Given the description of an element on the screen output the (x, y) to click on. 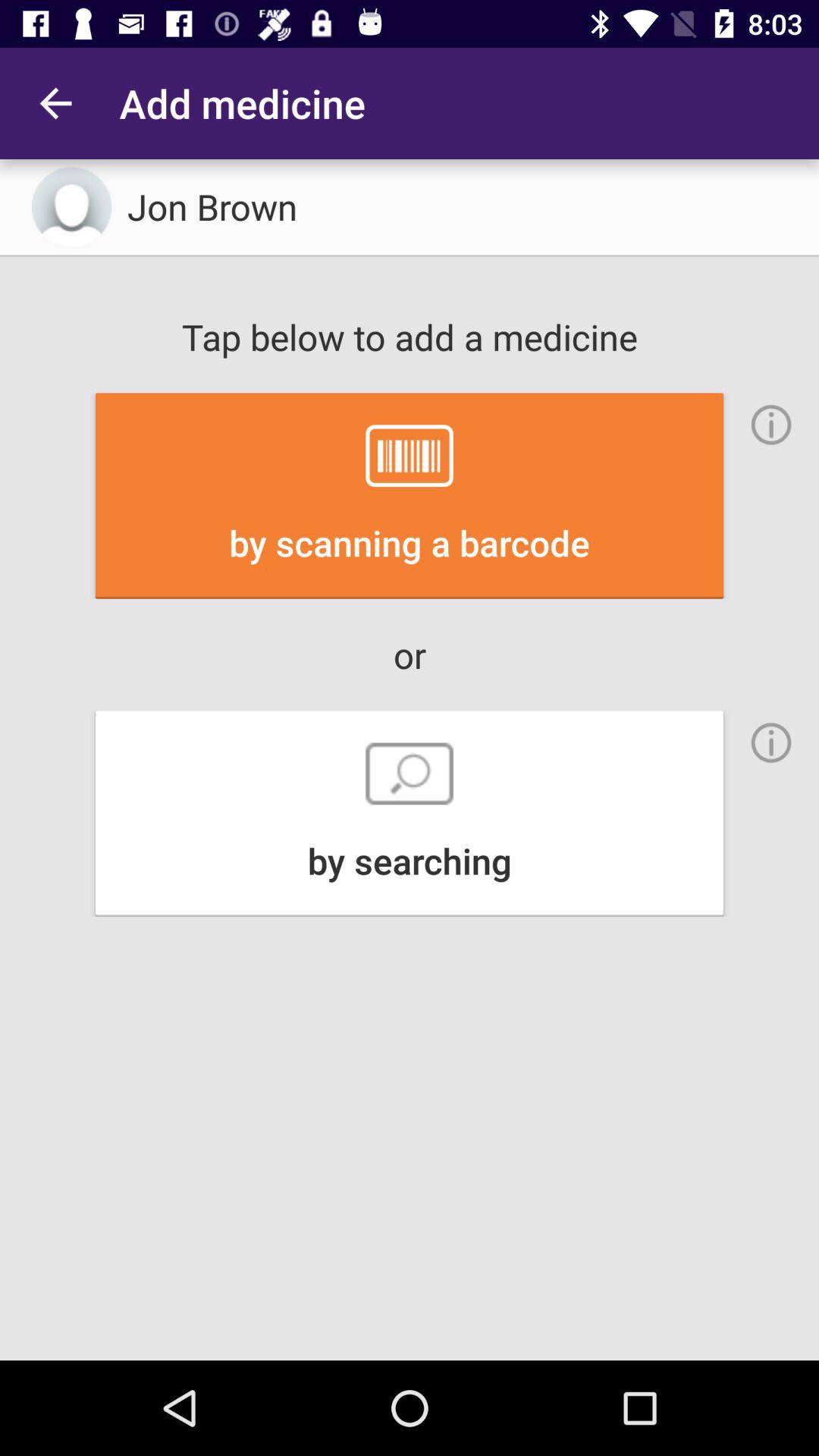
get more information (771, 424)
